Given the description of an element on the screen output the (x, y) to click on. 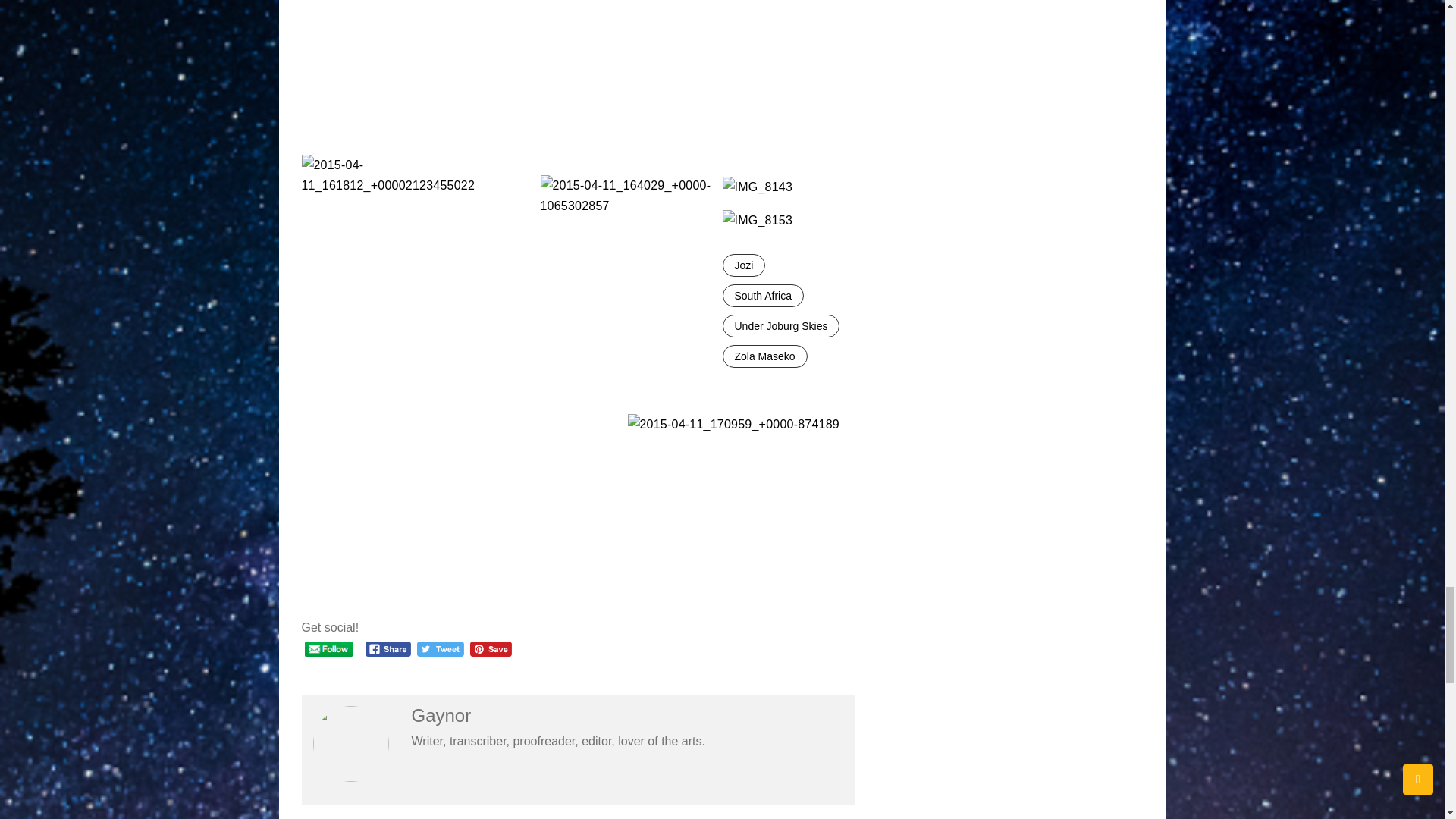
Pin Share (491, 649)
Tweet (440, 649)
Facebook Share (388, 649)
Jozi (743, 264)
